Given the description of an element on the screen output the (x, y) to click on. 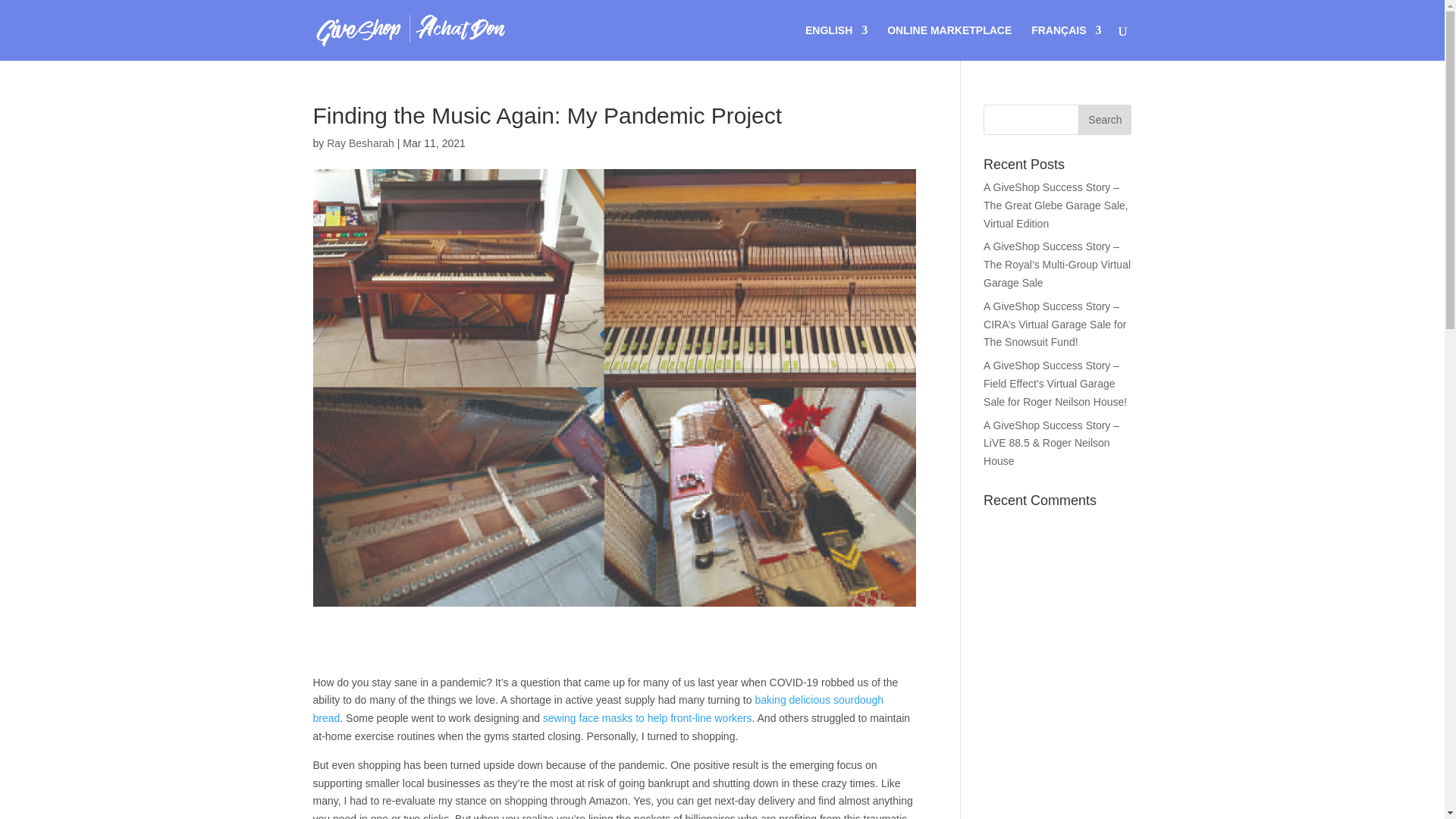
sewing face masks to help front-line workers (647, 717)
ENGLISH (836, 42)
baking delicious sourdough bread (598, 708)
Posts by Ray Besharah (360, 143)
Ray Besharah (360, 143)
ONLINE MARKETPLACE (948, 42)
Search (1104, 119)
